Given the description of an element on the screen output the (x, y) to click on. 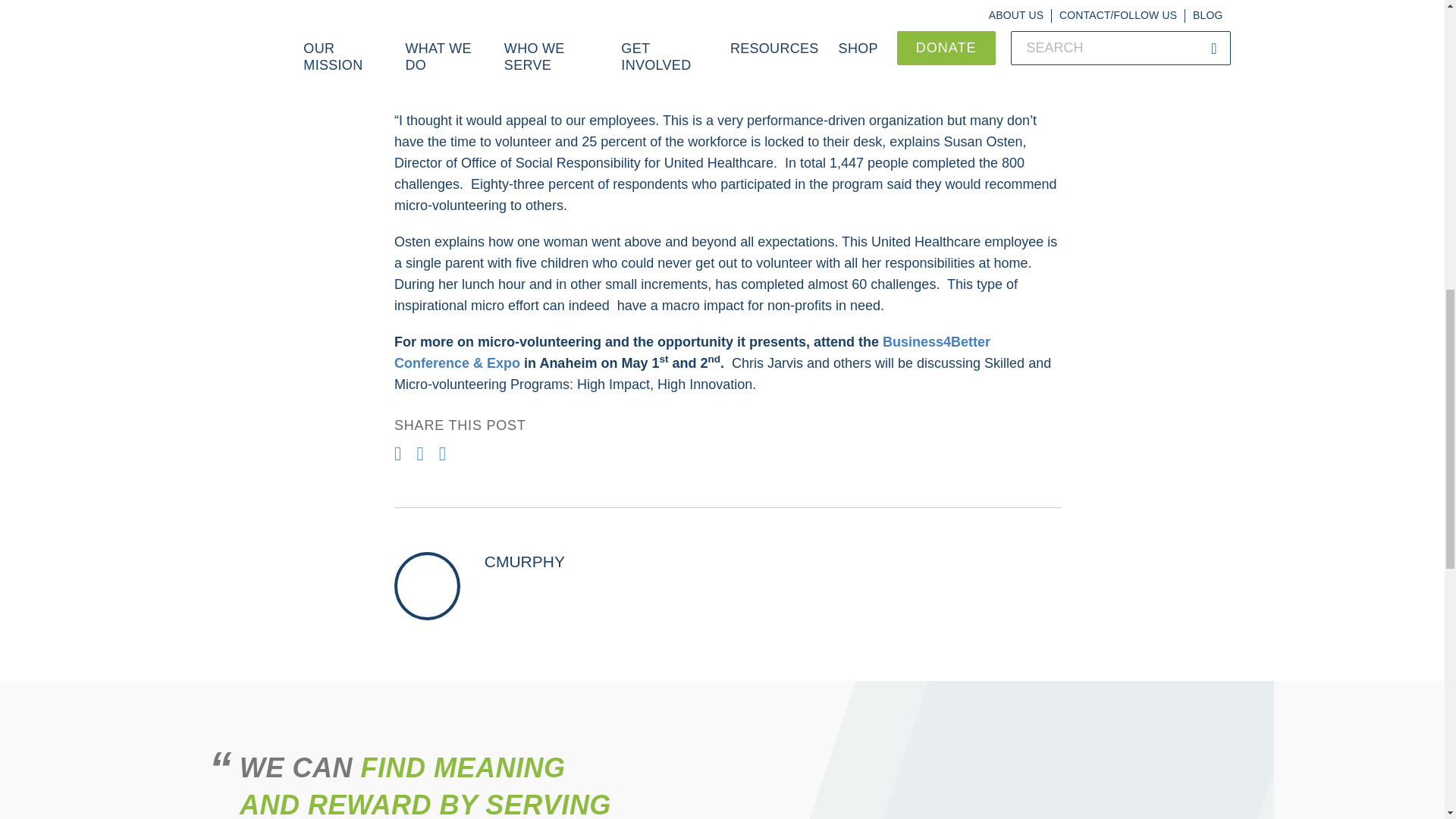
Click to share this post on Twitter (421, 453)
